Given the description of an element on the screen output the (x, y) to click on. 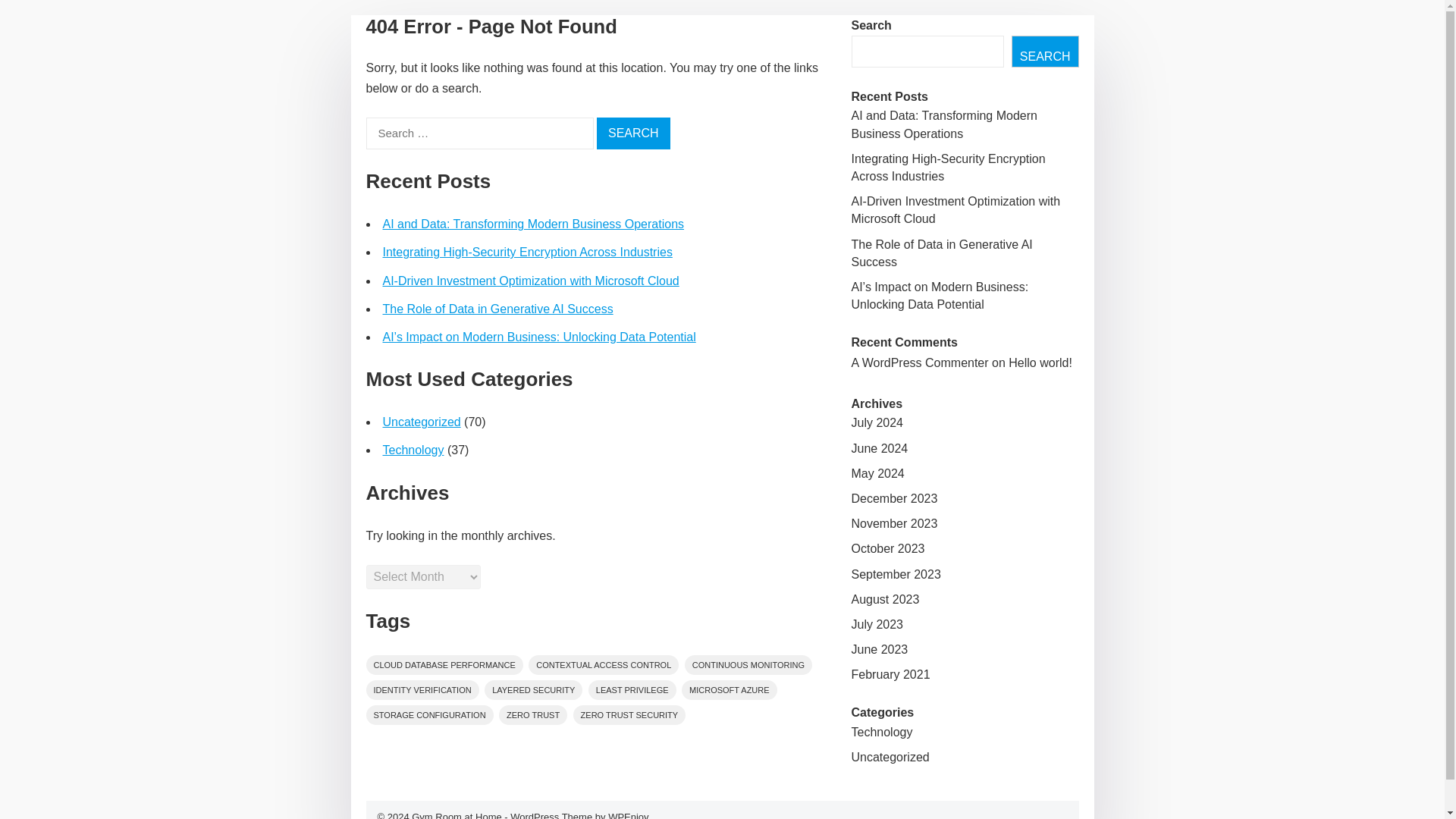
Integrating High-Security Encryption Across Industries (526, 251)
Uncategorized (420, 421)
Search (632, 133)
Integrating High-Security Encryption Across Industries (947, 167)
The Role of Data in Generative AI Success (496, 308)
Hello world! (1040, 362)
AI and Data: Transforming Modern Business Operations (943, 123)
ZERO TRUST (533, 714)
ZERO TRUST SECURITY (629, 714)
The Role of Data in Generative AI Success (941, 253)
AI and Data: Transforming Modern Business Operations (532, 223)
Technology (412, 449)
A WordPress Commenter (919, 362)
SEARCH (1044, 51)
CONTEXTUAL ACCESS CONTROL (603, 664)
